Given the description of an element on the screen output the (x, y) to click on. 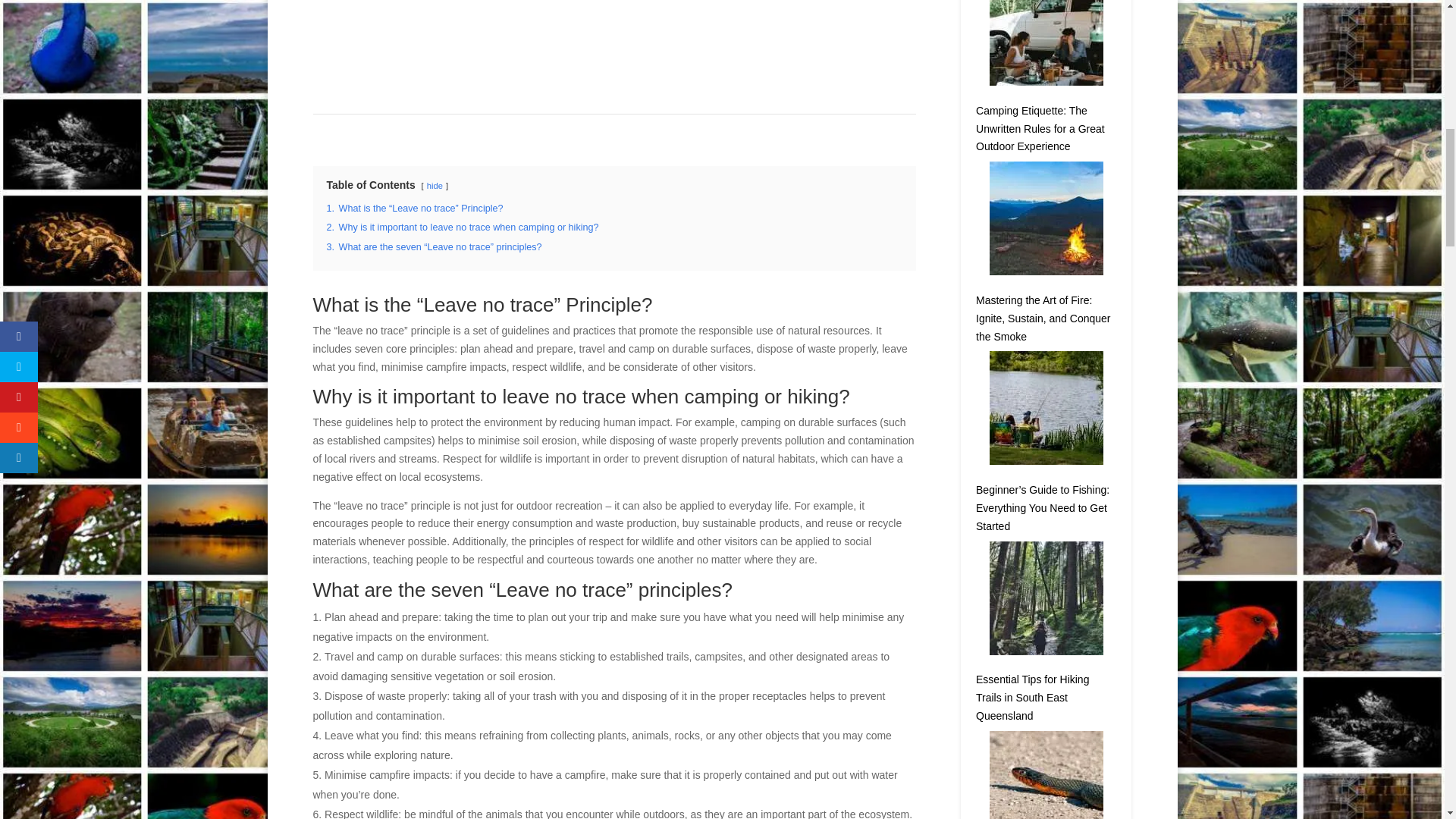
Essential Tips for Hiking Trails in South East Queensland (1032, 697)
Essential Tips for Hiking Trails in South East Queensland 6 (1046, 598)
Advertisement (654, 51)
hide (434, 185)
